Given the description of an element on the screen output the (x, y) to click on. 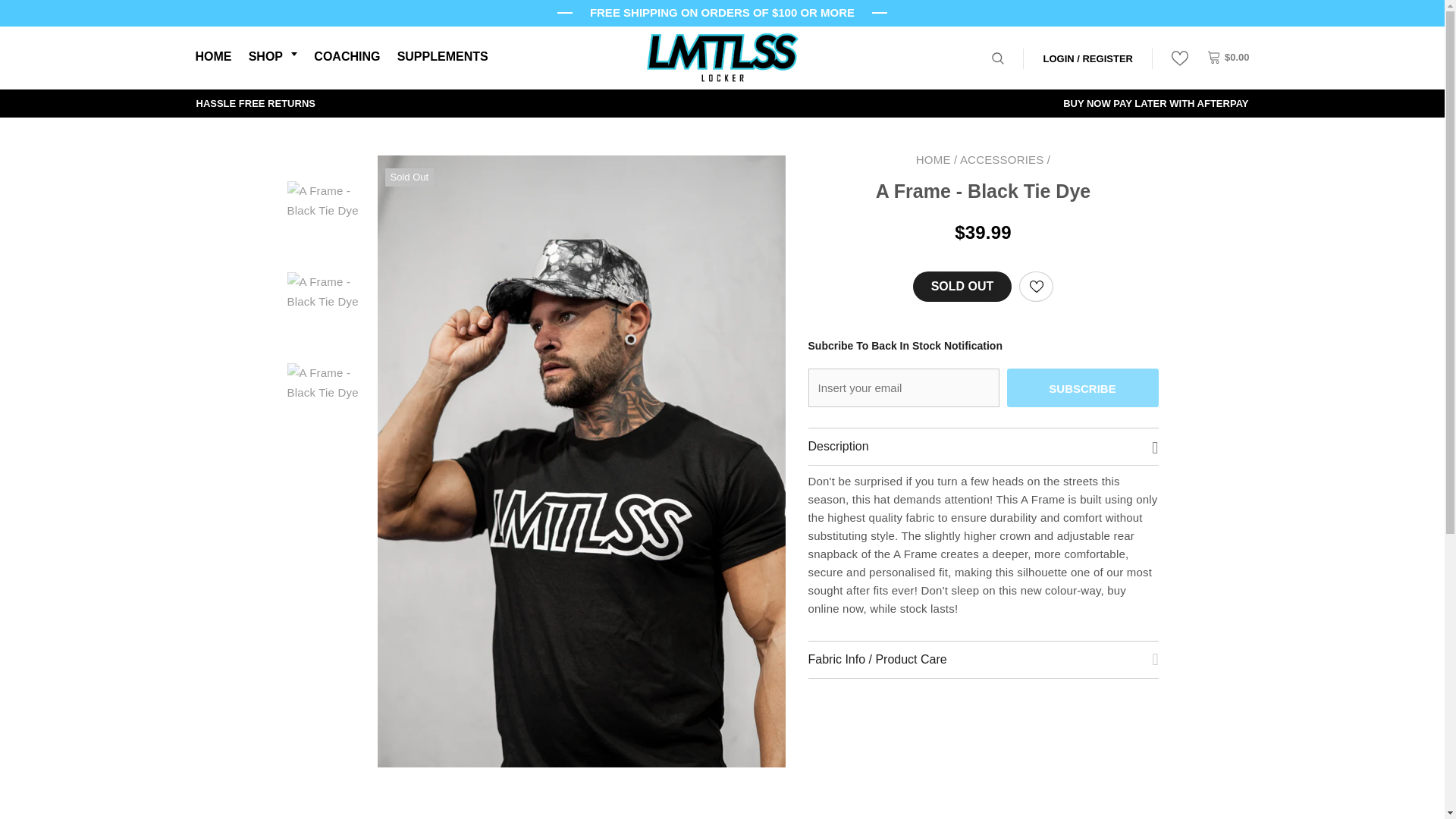
Subscribe (1082, 387)
Description (983, 446)
SHOP (273, 58)
Search Icon (997, 58)
HOME (932, 159)
Logo (721, 57)
Cart Icon (1228, 57)
SUPPLEMENTS (442, 58)
Subscribe (1082, 387)
ACCESSORIES (1001, 159)
COACHING (347, 58)
My Wish Lists (1180, 57)
Sold Out (961, 286)
Sold Out (961, 286)
